Given the description of an element on the screen output the (x, y) to click on. 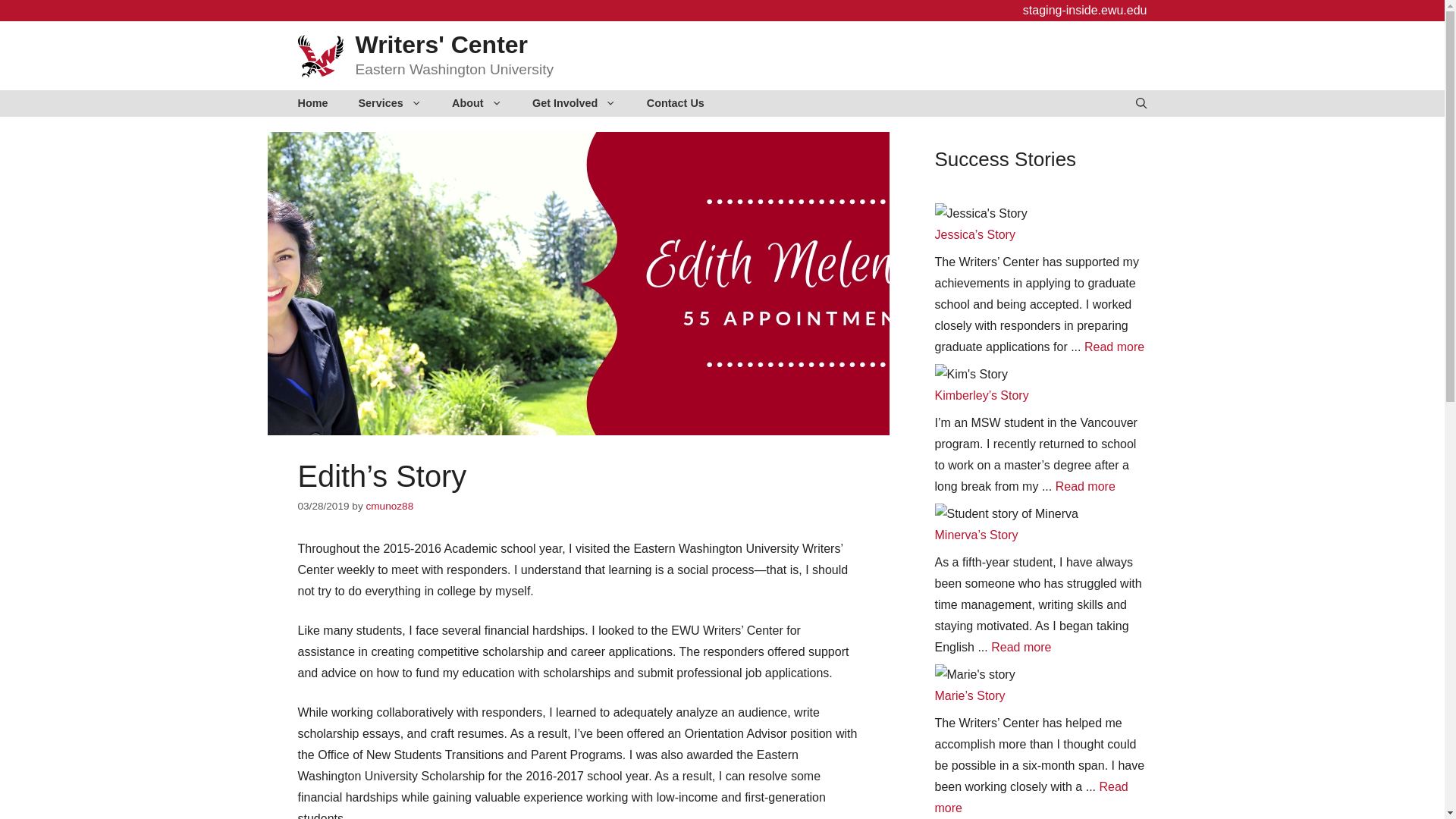
cmunoz88 (389, 505)
About (476, 103)
Read more (1085, 486)
Contact Us (675, 103)
Writers' Center (441, 44)
staging-inside.ewu.edu (1085, 10)
Read more (1030, 797)
Get Involved (573, 103)
Services (389, 103)
Home (312, 103)
